Given the description of an element on the screen output the (x, y) to click on. 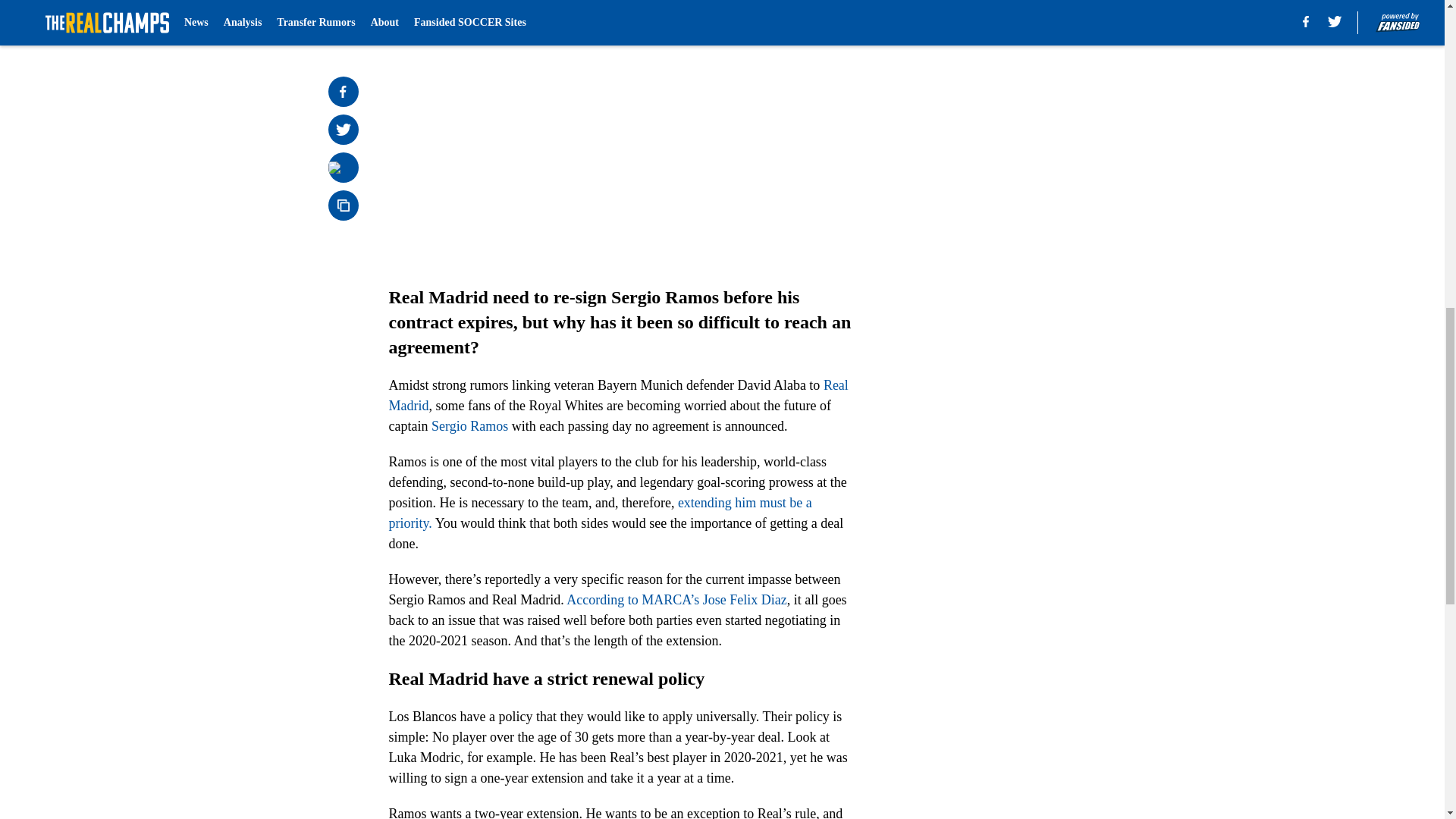
extending him must be a priority. (599, 512)
Real Madrid (617, 395)
Sergio Ramos (469, 426)
